Given the description of an element on the screen output the (x, y) to click on. 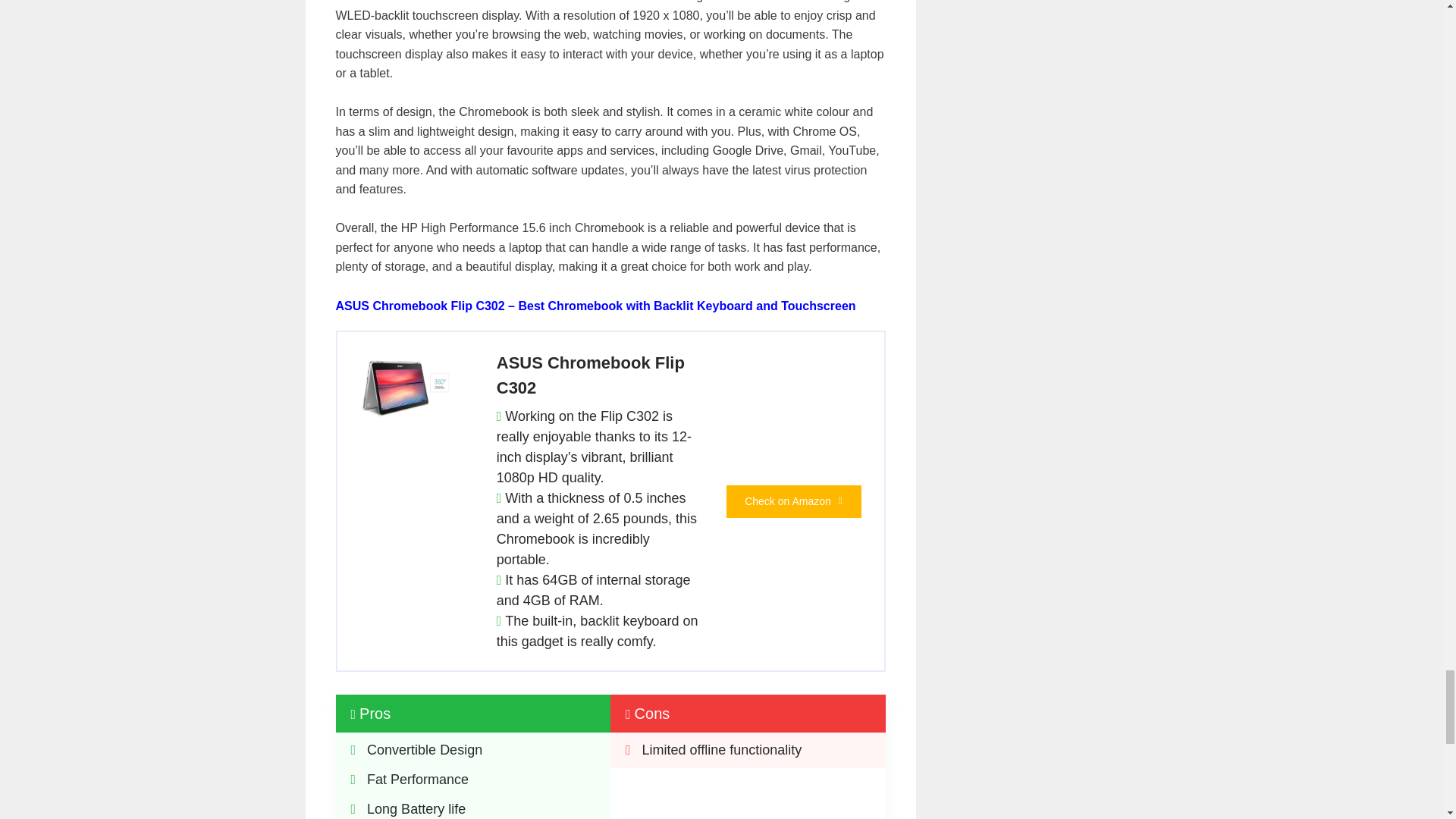
Check on Amazon (793, 501)
